Given the description of an element on the screen output the (x, y) to click on. 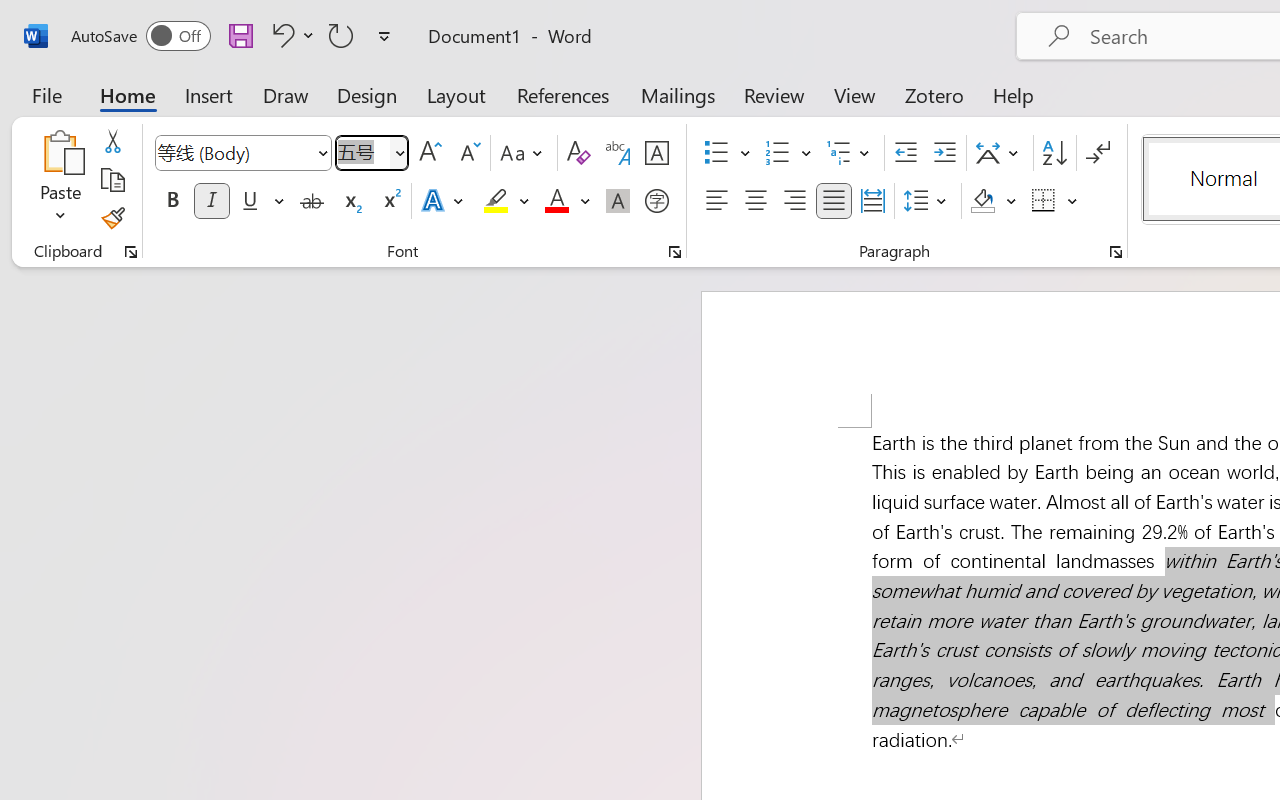
Text Effects and Typography (444, 201)
Superscript (390, 201)
Copy (112, 179)
Change Case (524, 153)
Font Color (567, 201)
Distributed (872, 201)
Text Highlight Color Yellow (495, 201)
Multilevel List (850, 153)
Undo Italic (280, 35)
